Given the description of an element on the screen output the (x, y) to click on. 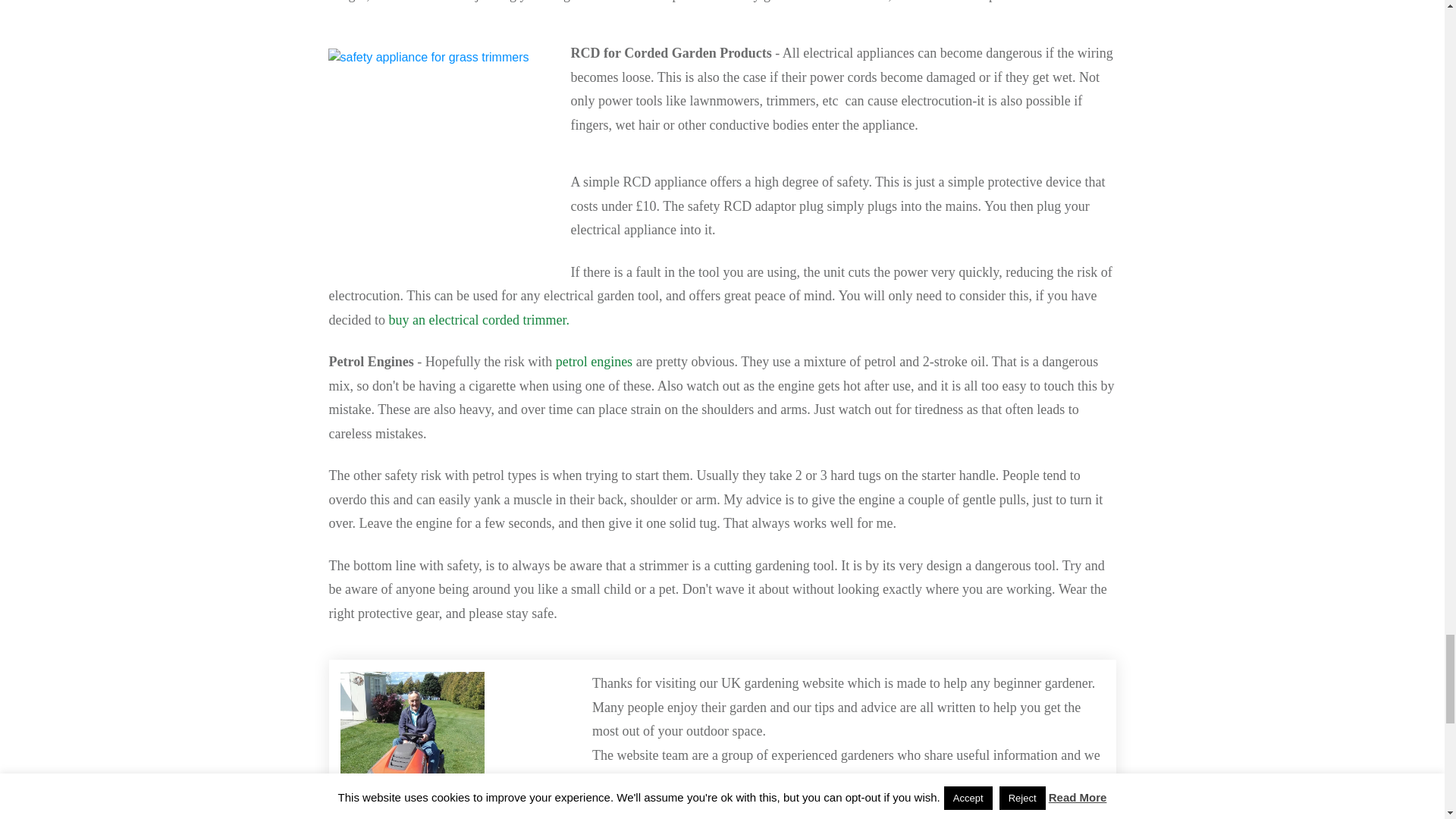
petrol engines (593, 361)
RCD Appliance for Garden Electrical Equipment (440, 161)
